Given the description of an element on the screen output the (x, y) to click on. 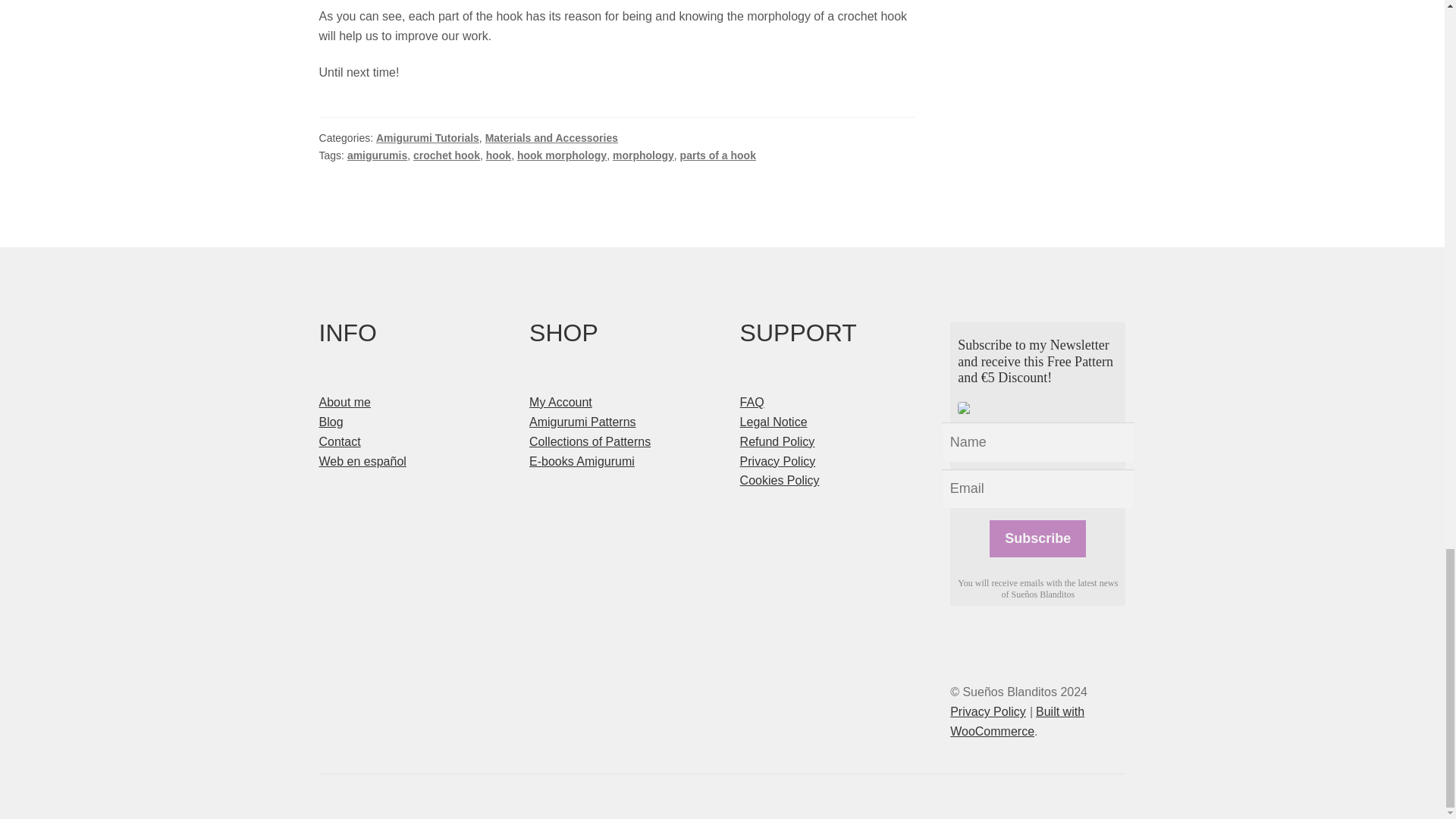
morphology (643, 155)
Amigurumi Tutorials (427, 137)
WooCommerce - The Best eCommerce Platform for WordPress (1017, 721)
Materials and Accessories (550, 137)
hook morphology (561, 155)
hook (498, 155)
crochet hook (446, 155)
amigurumis (377, 155)
